Given the description of an element on the screen output the (x, y) to click on. 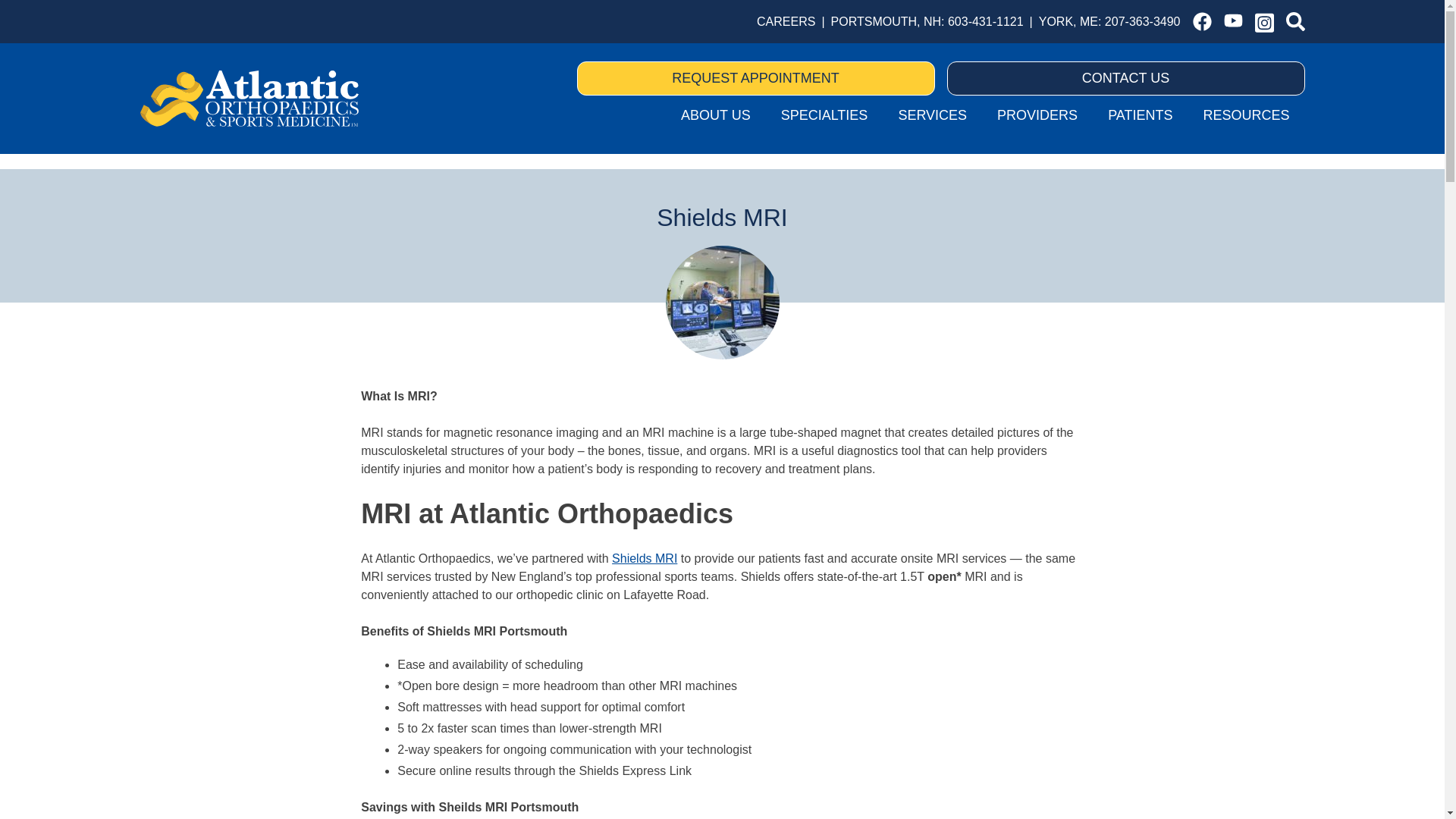
603-431-1121 (985, 21)
SPECIALTIES (824, 115)
REQUEST APPOINTMENT (755, 78)
207-363-3490 (1142, 21)
SERVICES (931, 115)
CONTACT US (1125, 78)
ABOUT US (715, 115)
CAREERS (786, 21)
